Given the description of an element on the screen output the (x, y) to click on. 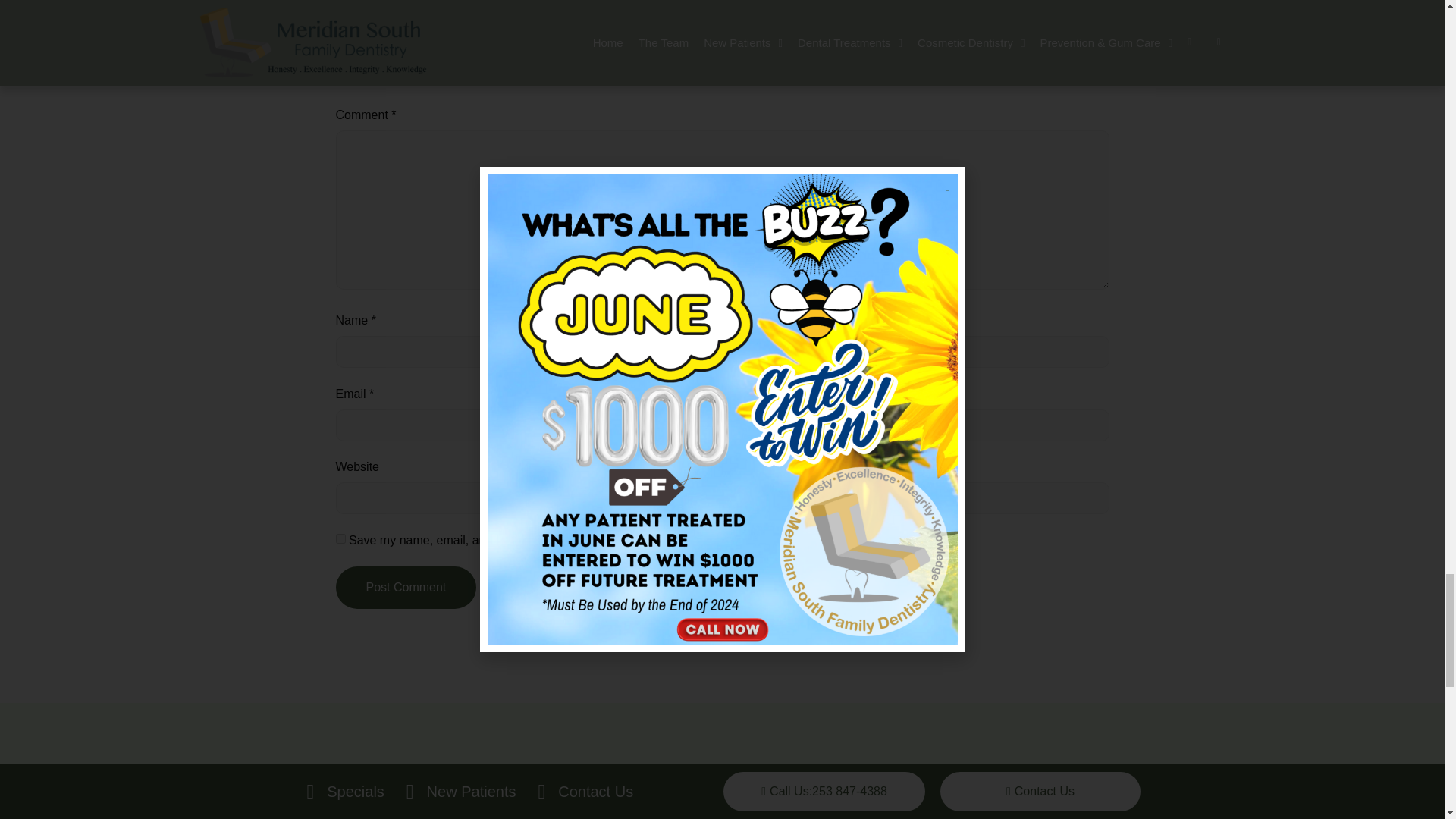
Post Comment (405, 587)
yes (339, 538)
